Given the description of an element on the screen output the (x, y) to click on. 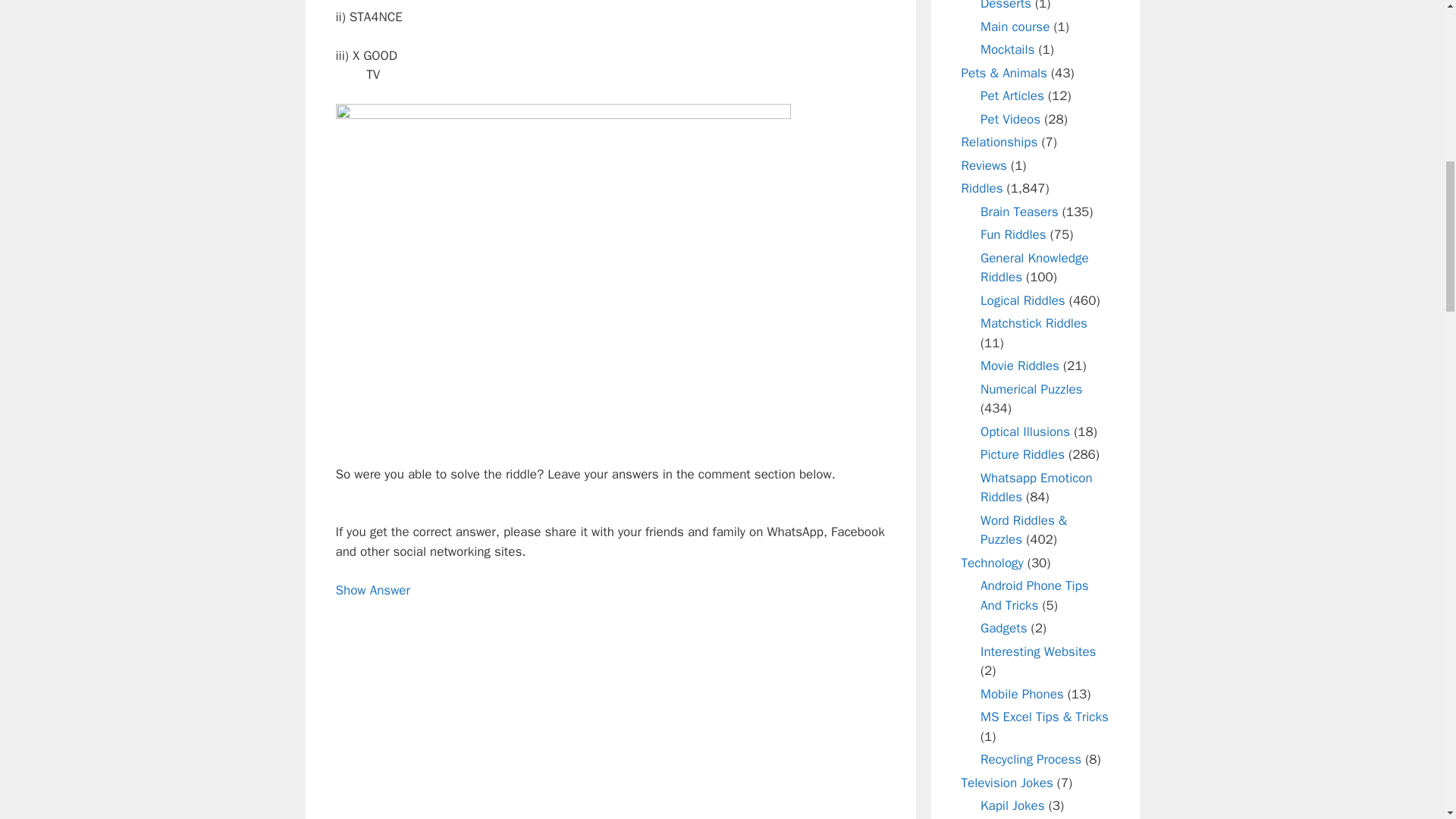
Show Answer (371, 590)
